Given the description of an element on the screen output the (x, y) to click on. 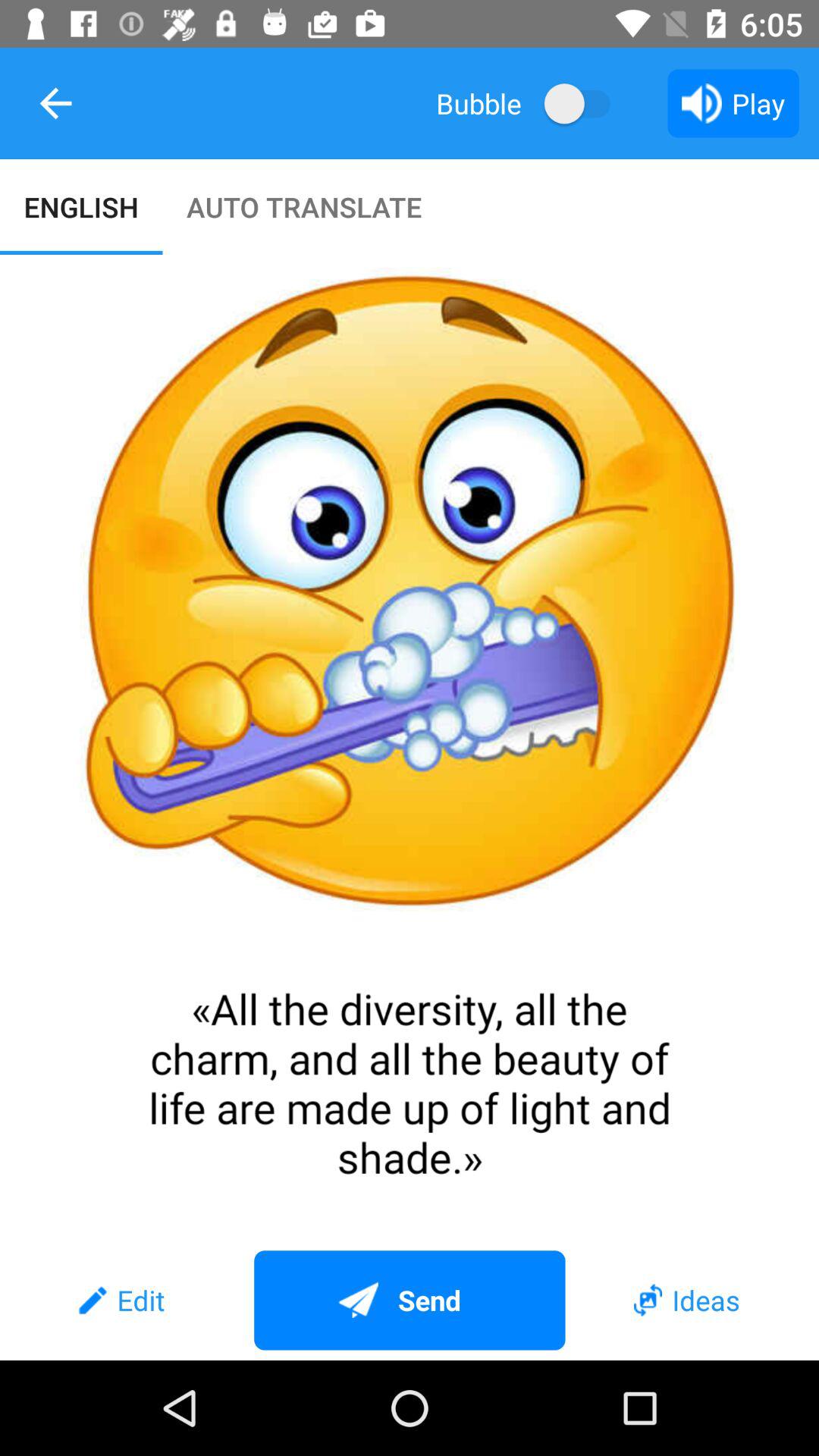
icon before ideas text (647, 1300)
click on the icon which is to the right from the bubble (584, 103)
